Given the description of an element on the screen output the (x, y) to click on. 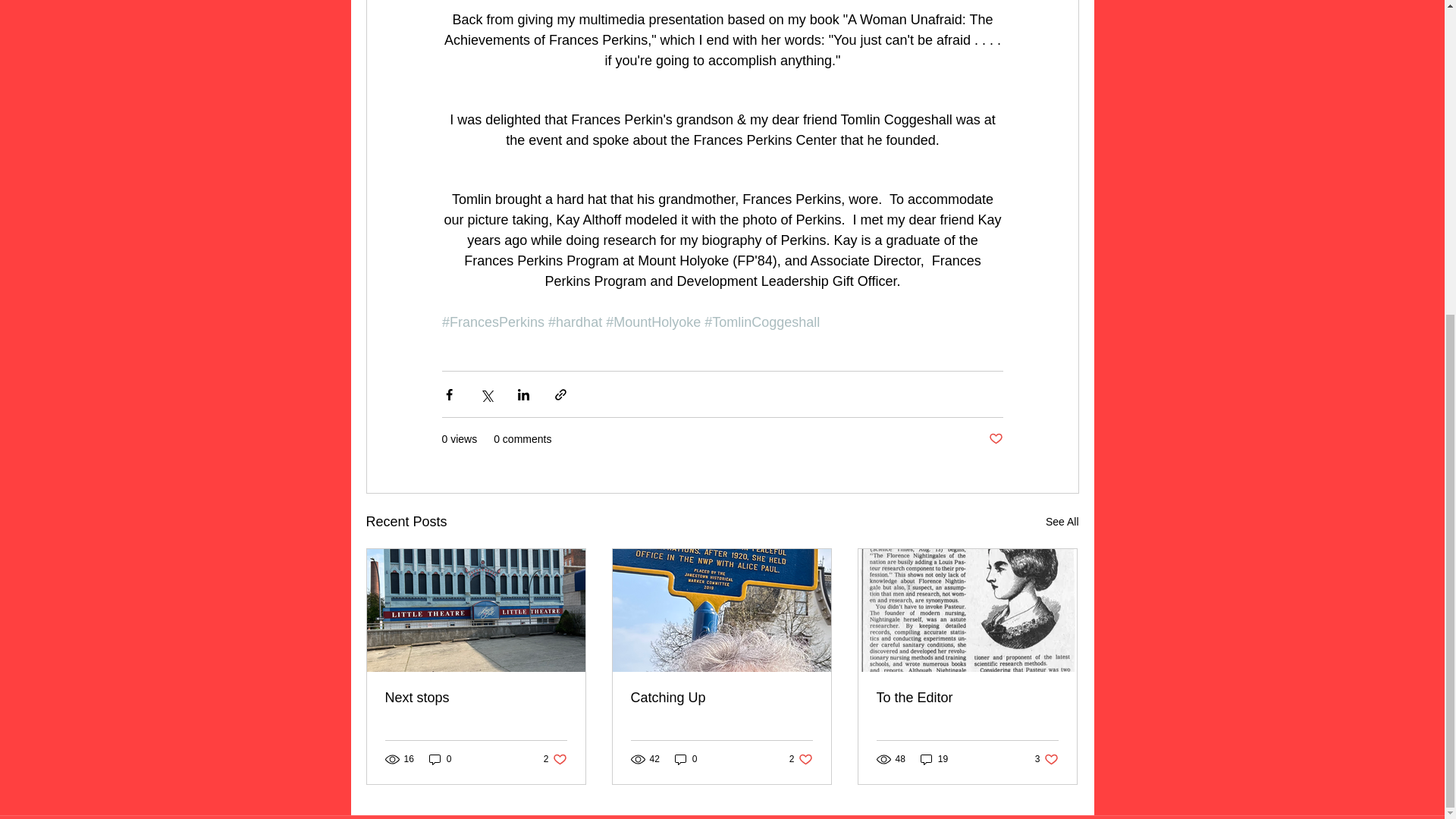
0 (685, 759)
To the Editor (967, 697)
Post not marked as liked (995, 439)
0 (440, 759)
Next stops (555, 759)
See All (476, 697)
Catching Up (1061, 522)
